Given the description of an element on the screen output the (x, y) to click on. 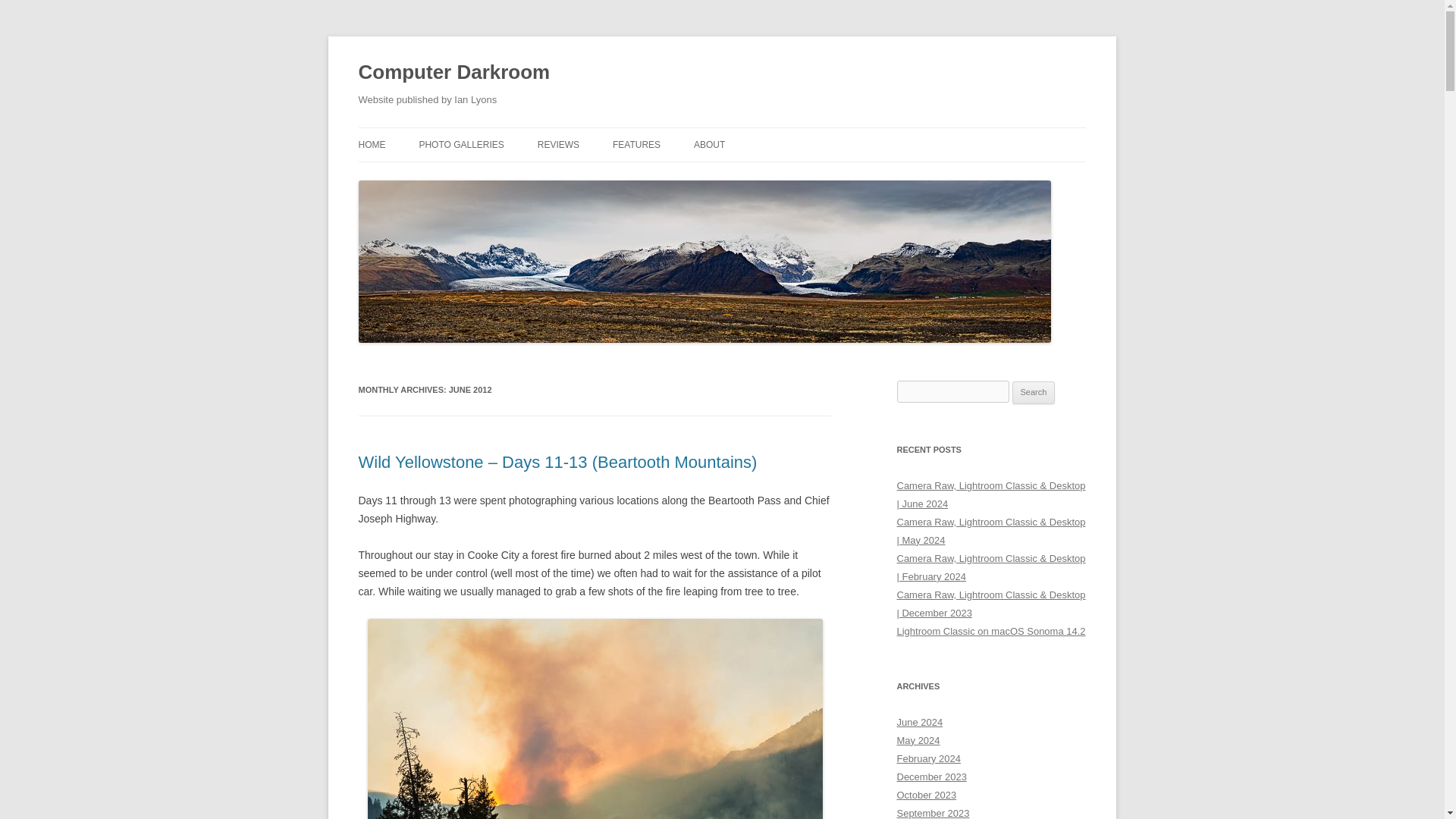
ABOUT (709, 144)
REVIEWS (558, 144)
Search (1033, 392)
Product and Feature Reviews (558, 144)
Photo Galleries (461, 144)
About Ian Lyons (709, 144)
Features (636, 144)
FEATURES (636, 144)
Computer Darkroom (454, 72)
PHOTO GALLERIES (461, 144)
